Given the description of an element on the screen output the (x, y) to click on. 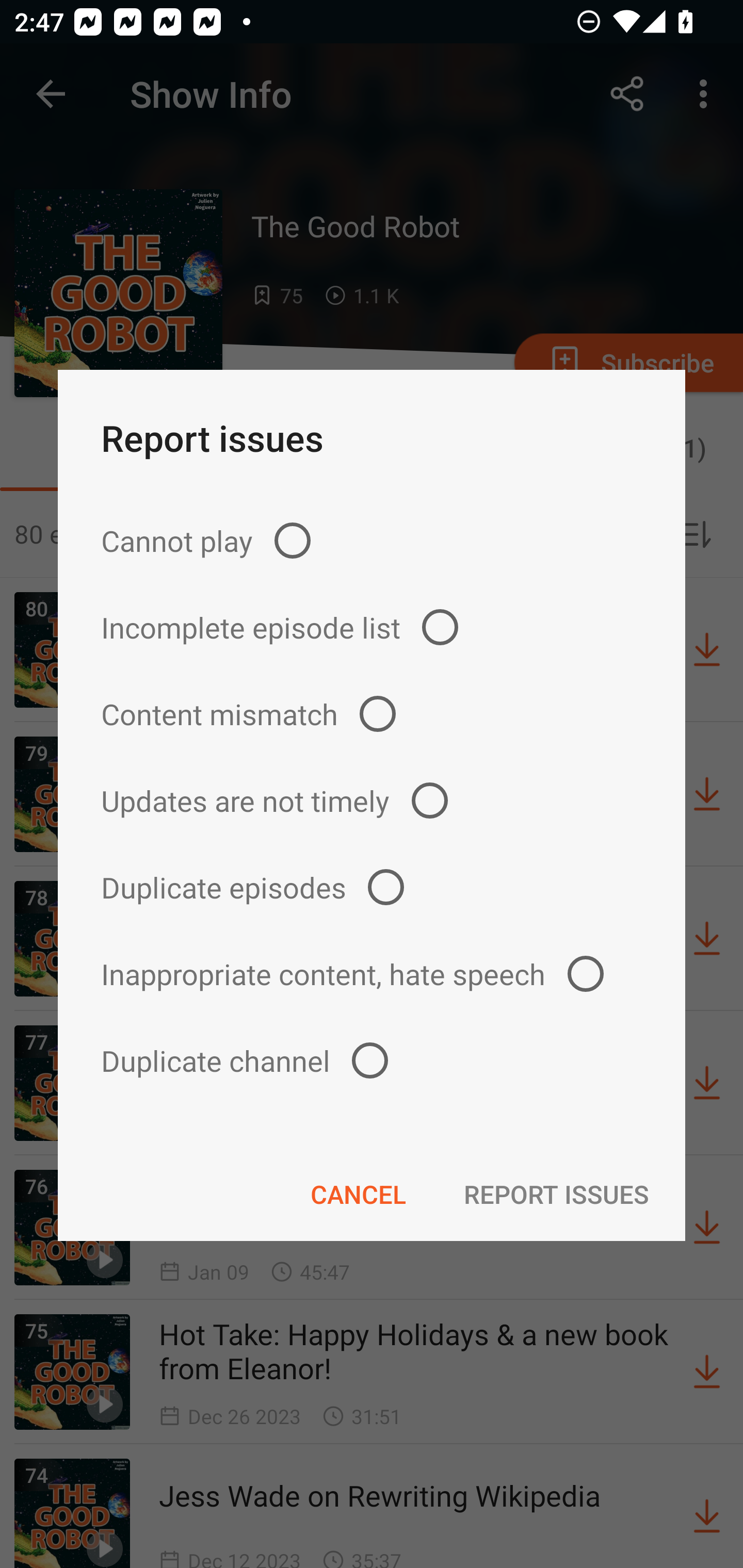
Cannot play (371, 540)
Incomplete episode list (371, 627)
Content mismatch (371, 714)
Updates are not timely (371, 800)
Duplicate episodes (371, 886)
Inappropriate content, hate speech (371, 973)
Duplicate channel (371, 1060)
CANCEL (357, 1193)
REPORT ISSUES (555, 1193)
